Given the description of an element on the screen output the (x, y) to click on. 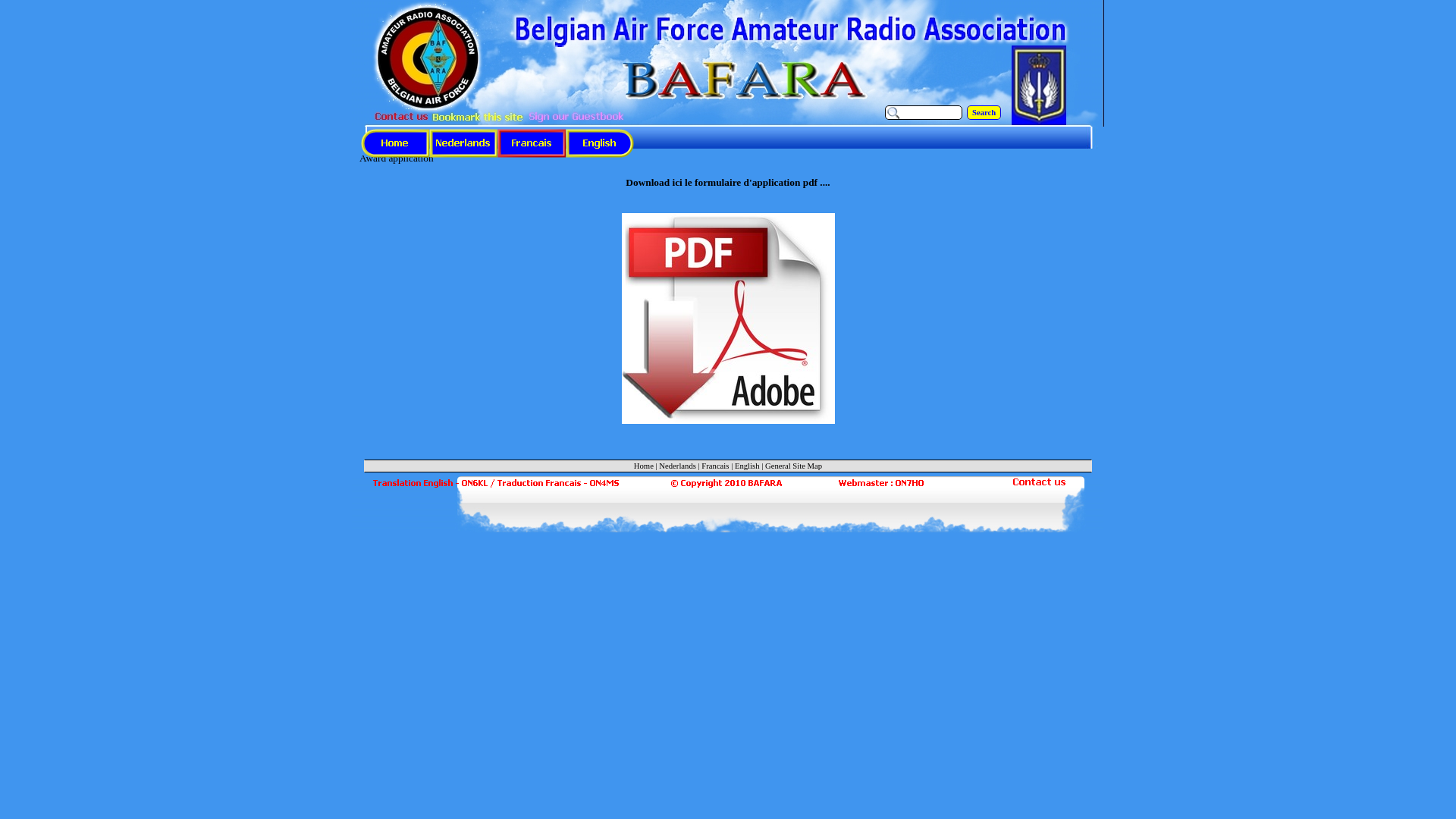
Francais Element type: text (714, 465)
Nederlands Element type: text (677, 465)
General Site Map Element type: text (793, 465)
Search Element type: text (983, 112)
Home Element type: text (643, 465)
English Element type: text (746, 465)
